Given the description of an element on the screen output the (x, y) to click on. 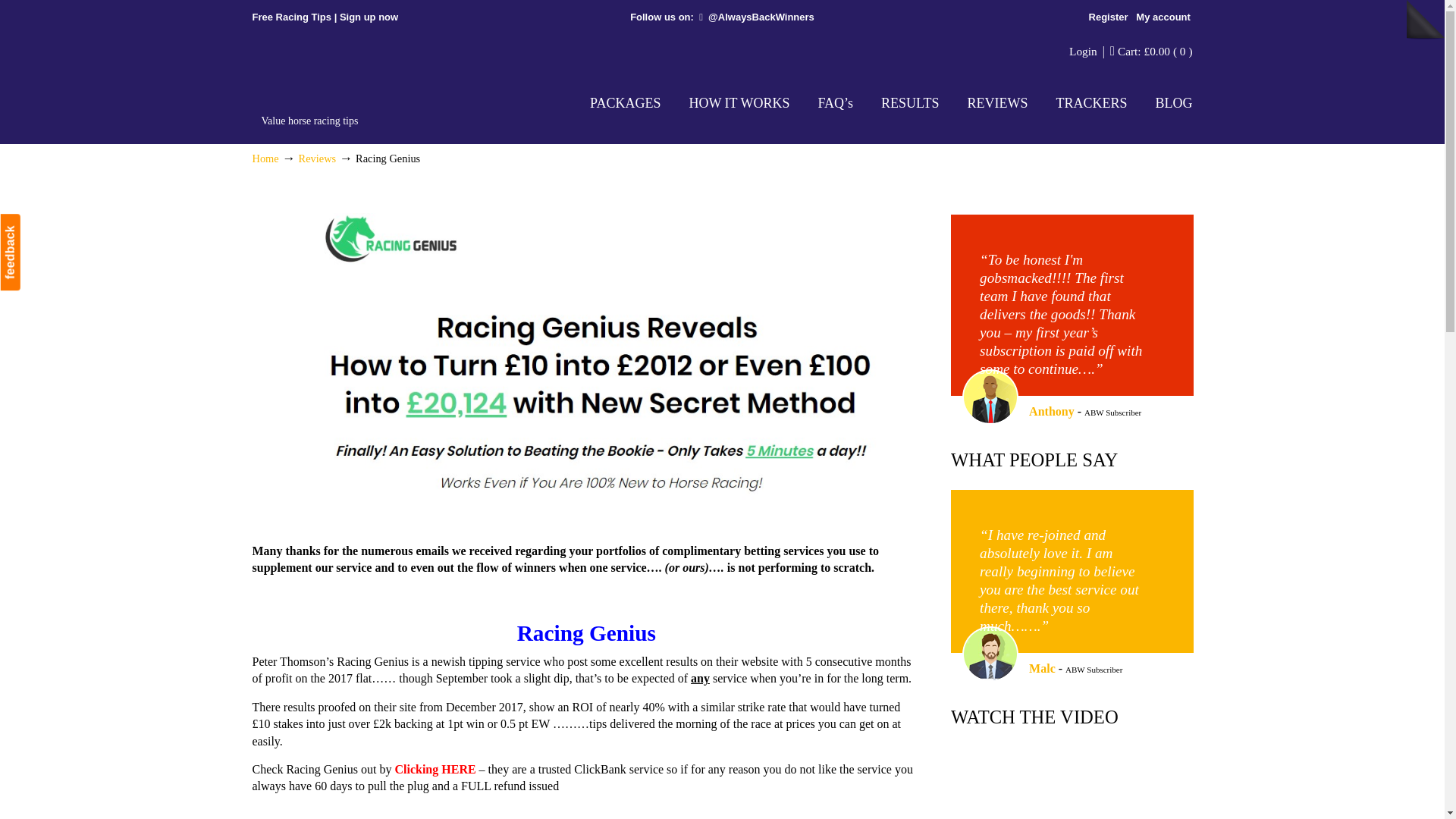
HOW IT WORKS (738, 102)
View your shopping cart (1155, 51)
PACKAGES (625, 102)
BLOG (1174, 102)
Clicking HERE (435, 768)
ALWAYS BACK WINNERS (354, 80)
Register (1107, 16)
Login (1082, 51)
Reviews (317, 158)
ALWAYS BACK WINNERS (354, 80)
Login (1082, 51)
RESULTS (909, 102)
My account (1163, 16)
REVIEWS (997, 102)
TRACKERS (1091, 102)
